Given the description of an element on the screen output the (x, y) to click on. 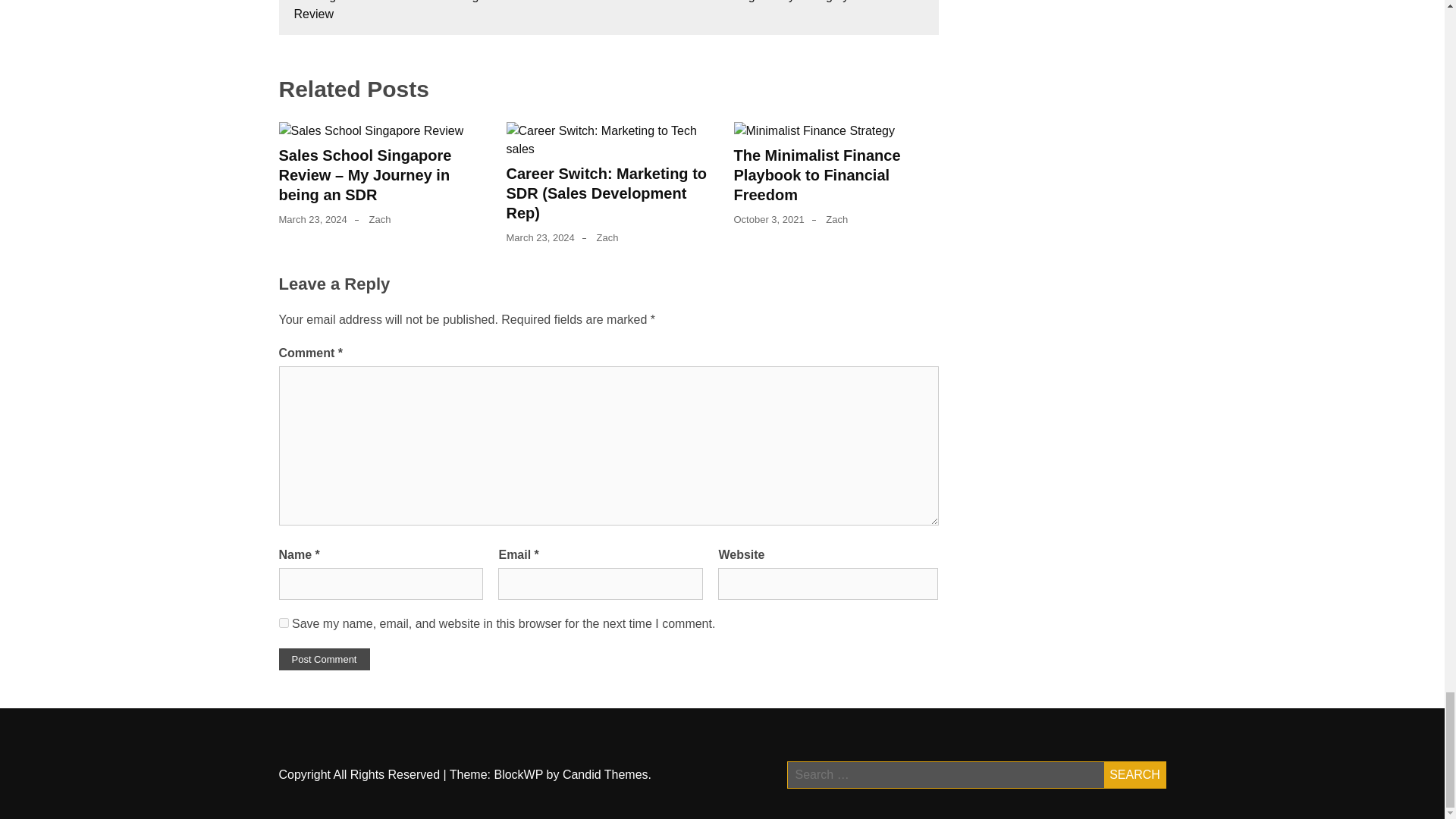
yes (283, 623)
Search (1134, 774)
Post Comment (324, 659)
Search (1134, 774)
